Given the description of an element on the screen output the (x, y) to click on. 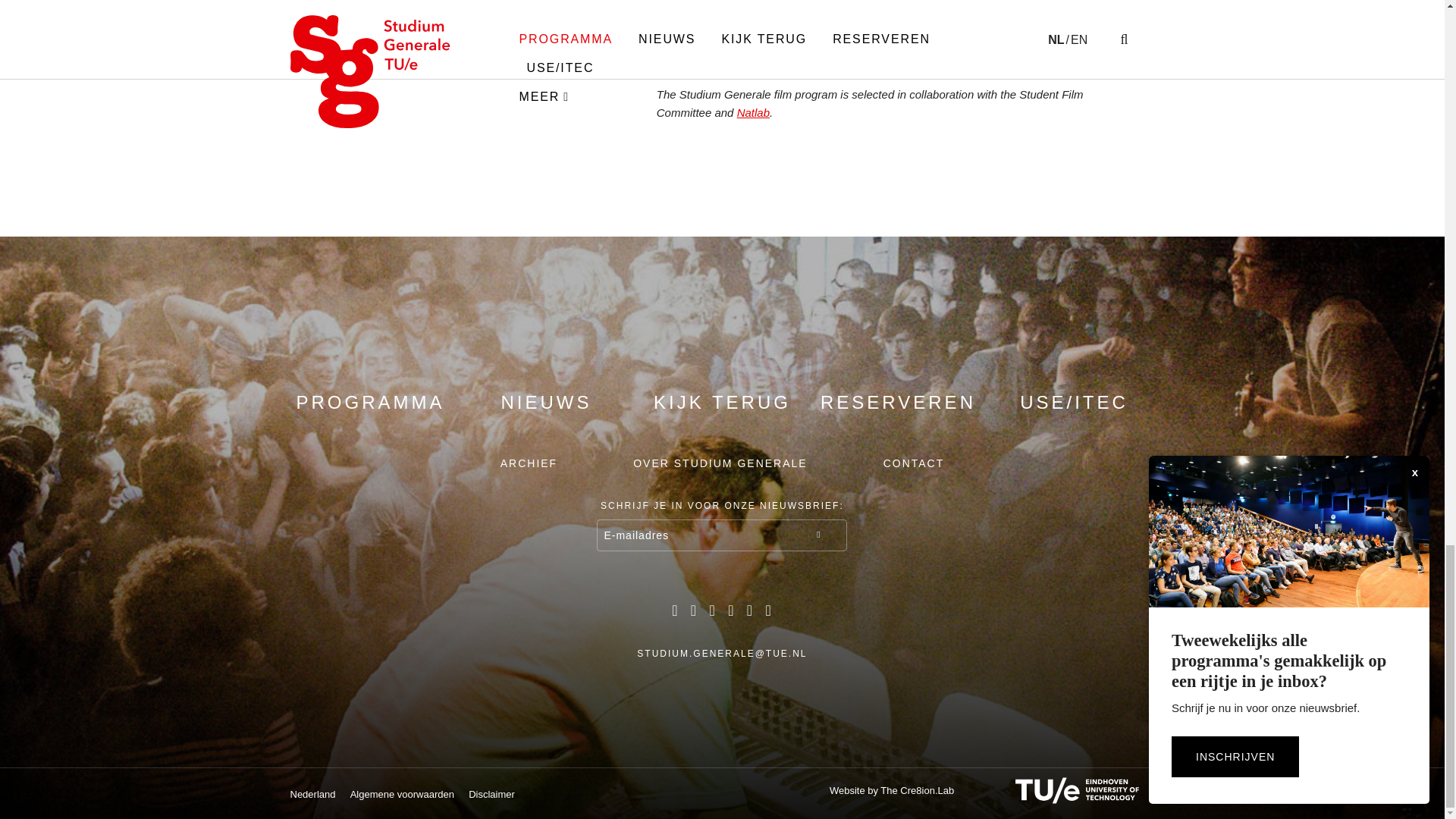
Technische Universiteit Eindhoven (1062, 790)
RESERVEREN (898, 402)
CONTACT (913, 463)
PROGRAMMA (369, 402)
Natlab (753, 112)
NIEUWS (545, 402)
KIJK TERUG (721, 402)
Webdevelopment Den Bosch (891, 790)
OVER STUDIUM GENERALE (719, 463)
ARCHIEF (528, 463)
